Given the description of an element on the screen output the (x, y) to click on. 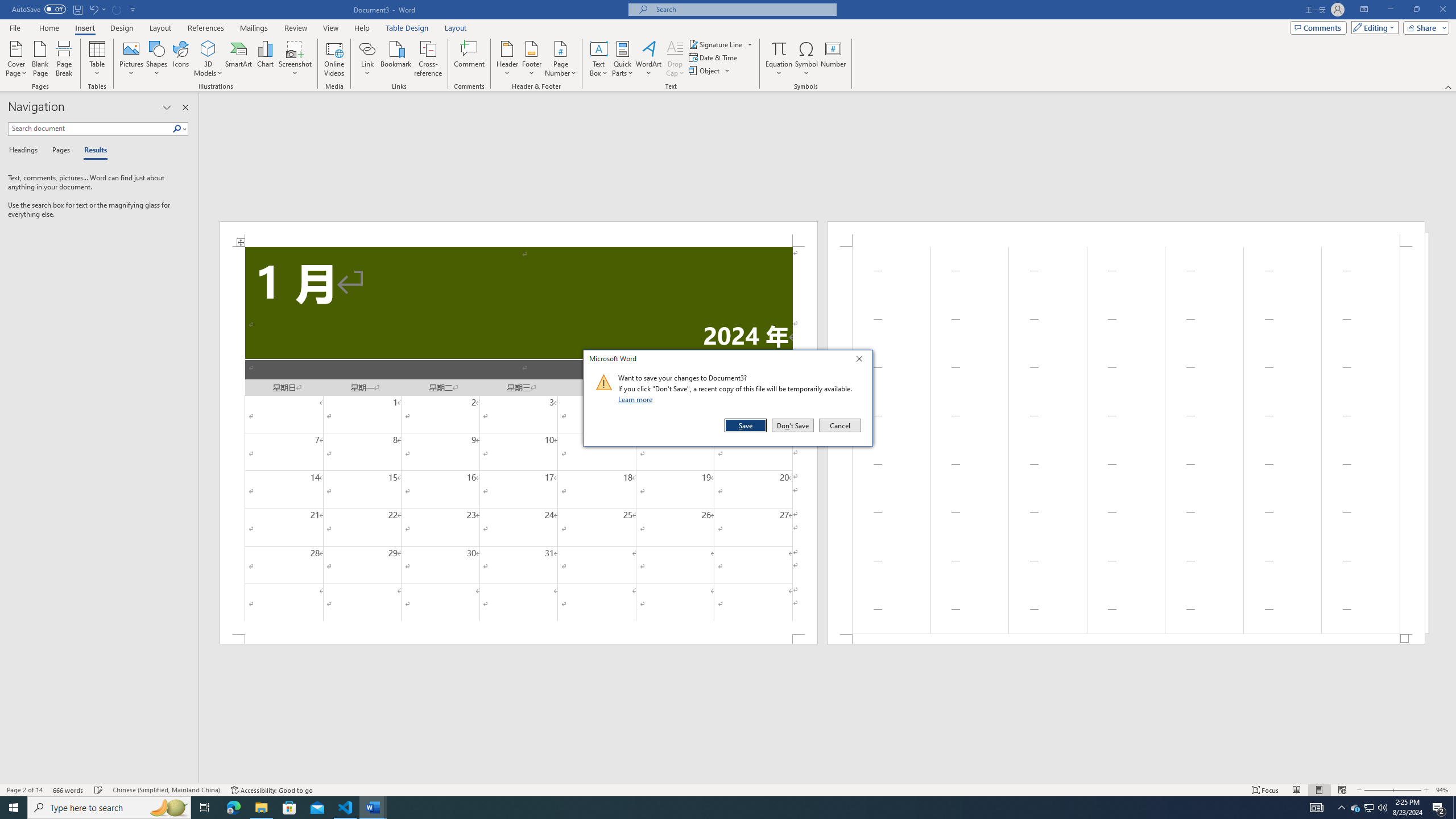
Number... (833, 58)
Icons (180, 58)
